Given the description of an element on the screen output the (x, y) to click on. 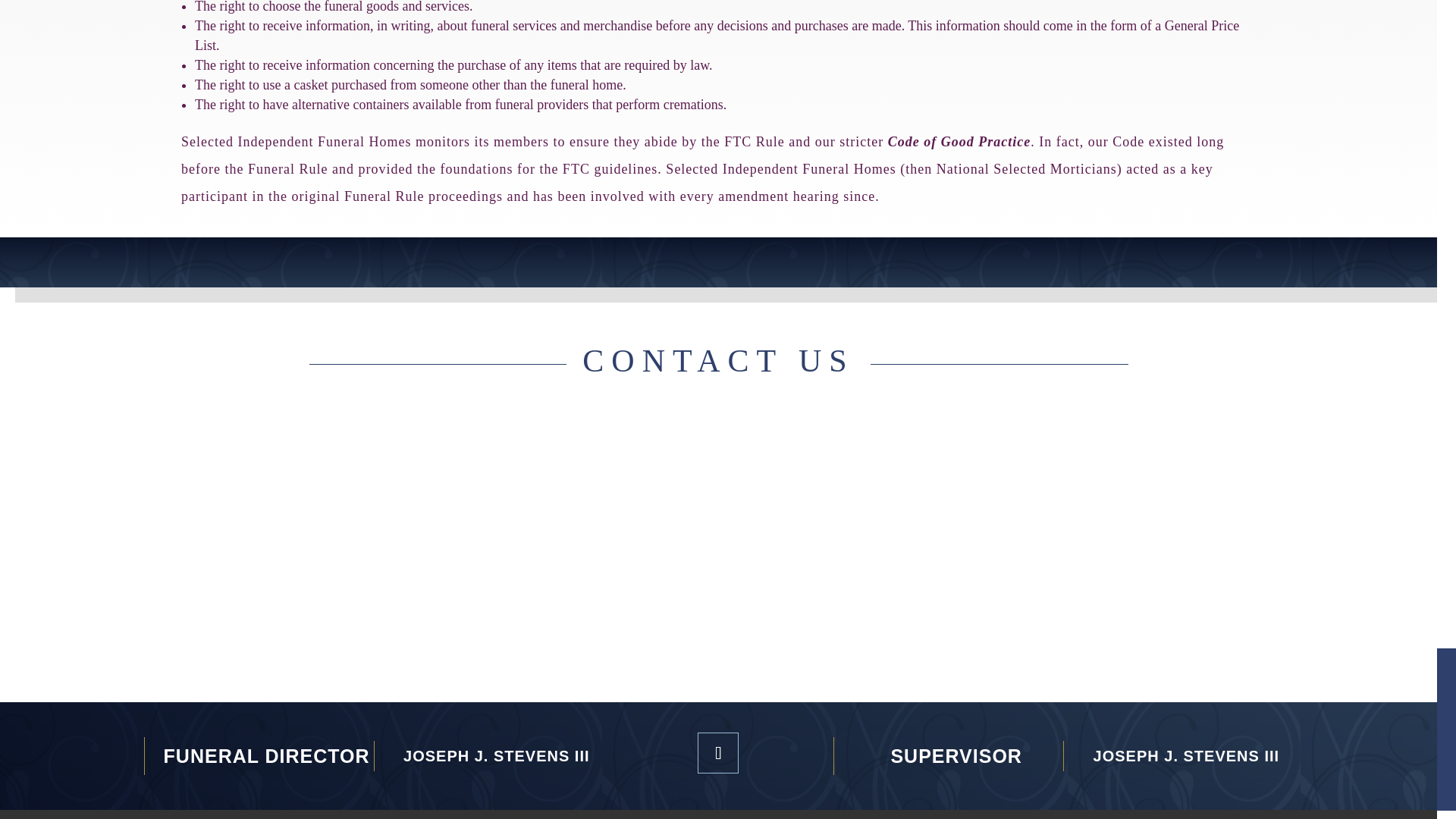
Follow on Facebook (717, 752)
